Given the description of an element on the screen output the (x, y) to click on. 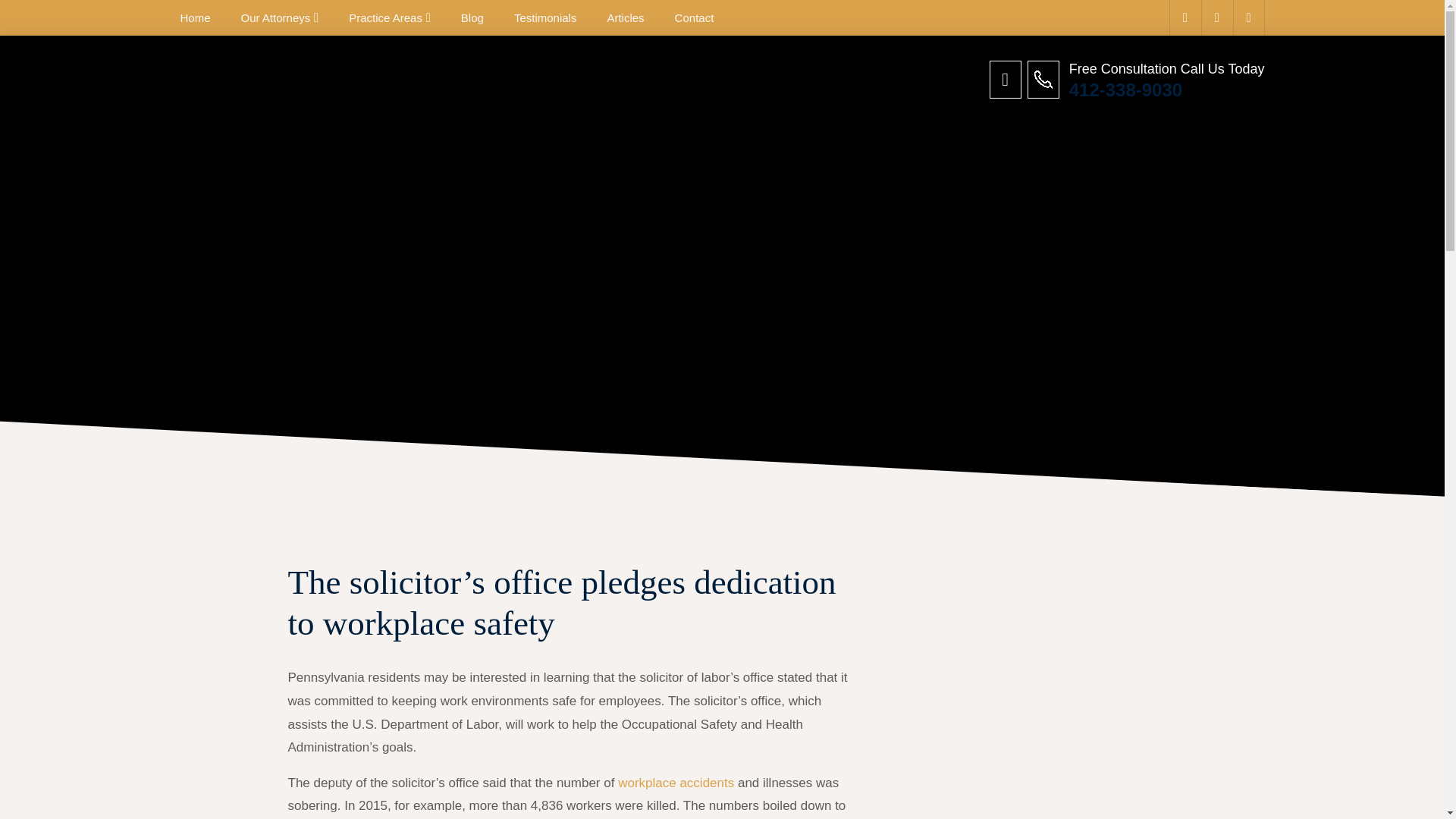
Testimonials (544, 18)
Articles (625, 18)
workplace accidents (675, 782)
Our Attorneys (276, 18)
Contact (694, 18)
Home (195, 18)
Practice Areas (385, 18)
Blog (472, 18)
412-338-9030 (1166, 90)
